Given the description of an element on the screen output the (x, y) to click on. 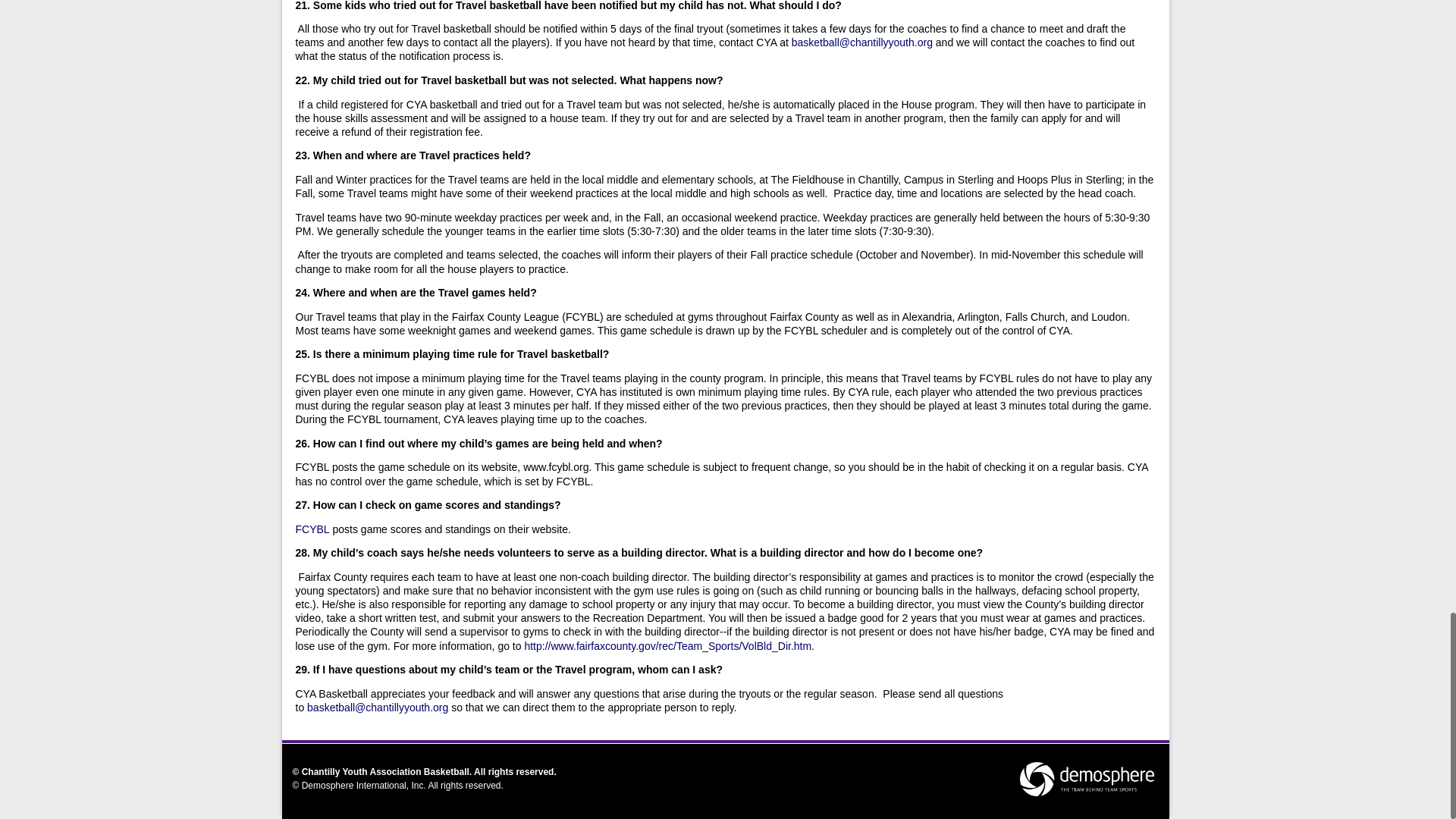
Click to email this person (377, 707)
Click to email this person (862, 42)
FCYBL (312, 529)
Demosphere International, Inc. (363, 785)
